Given the description of an element on the screen output the (x, y) to click on. 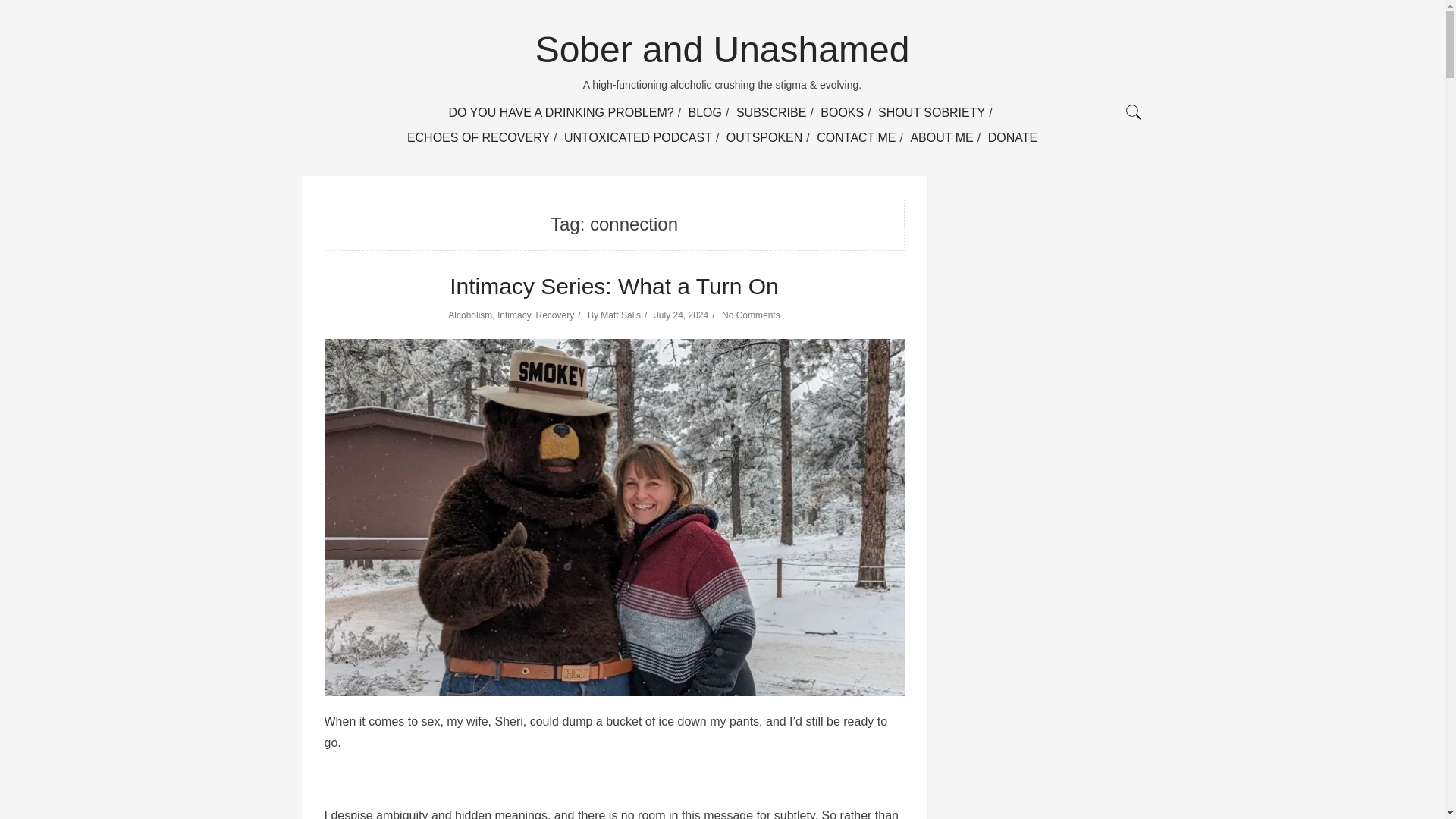
Alcoholism (470, 315)
Sober and Unashamed (722, 49)
BLOG (705, 112)
OUTSPOKEN (764, 137)
CONTACT ME (855, 137)
DO YOU HAVE A DRINKING PROBLEM? (560, 112)
SHOUT SOBRIETY (931, 112)
Recovery (554, 315)
ECHOES OF RECOVERY (478, 137)
Matt Salis (619, 315)
Intimacy Series: What a Turn On (613, 285)
DONATE (1012, 137)
UNTOXICATED PODCAST (637, 137)
No Comments (751, 315)
